Given the description of an element on the screen output the (x, y) to click on. 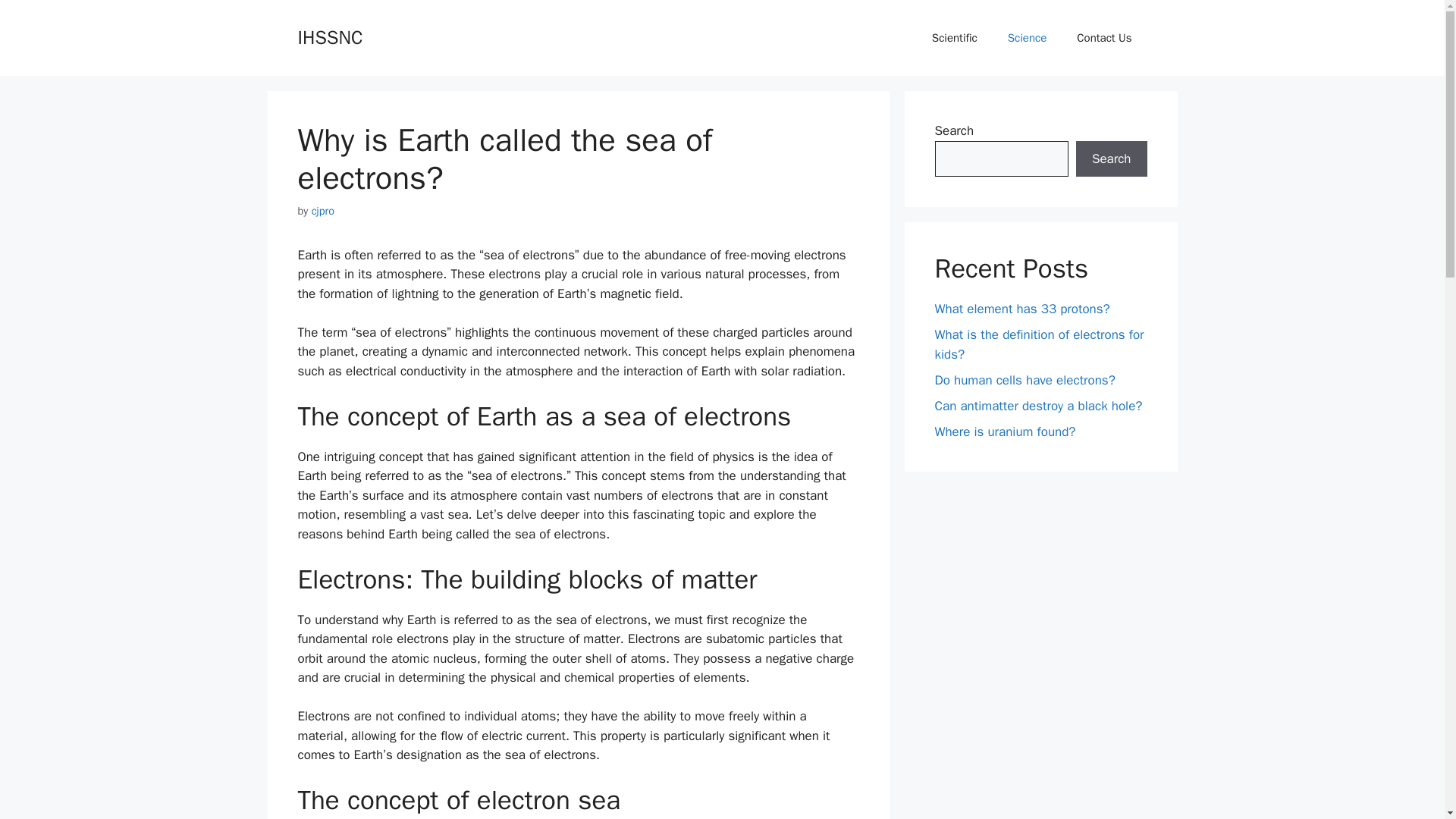
IHSSNC (329, 37)
View all posts by cjpro (322, 210)
What element has 33 protons? (1021, 308)
Where is uranium found? (1004, 430)
Contact Us (1104, 37)
Scientific (954, 37)
What is the definition of electrons for kids? (1038, 344)
Search (1111, 158)
Can antimatter destroy a black hole? (1037, 405)
cjpro (322, 210)
